Given the description of an element on the screen output the (x, y) to click on. 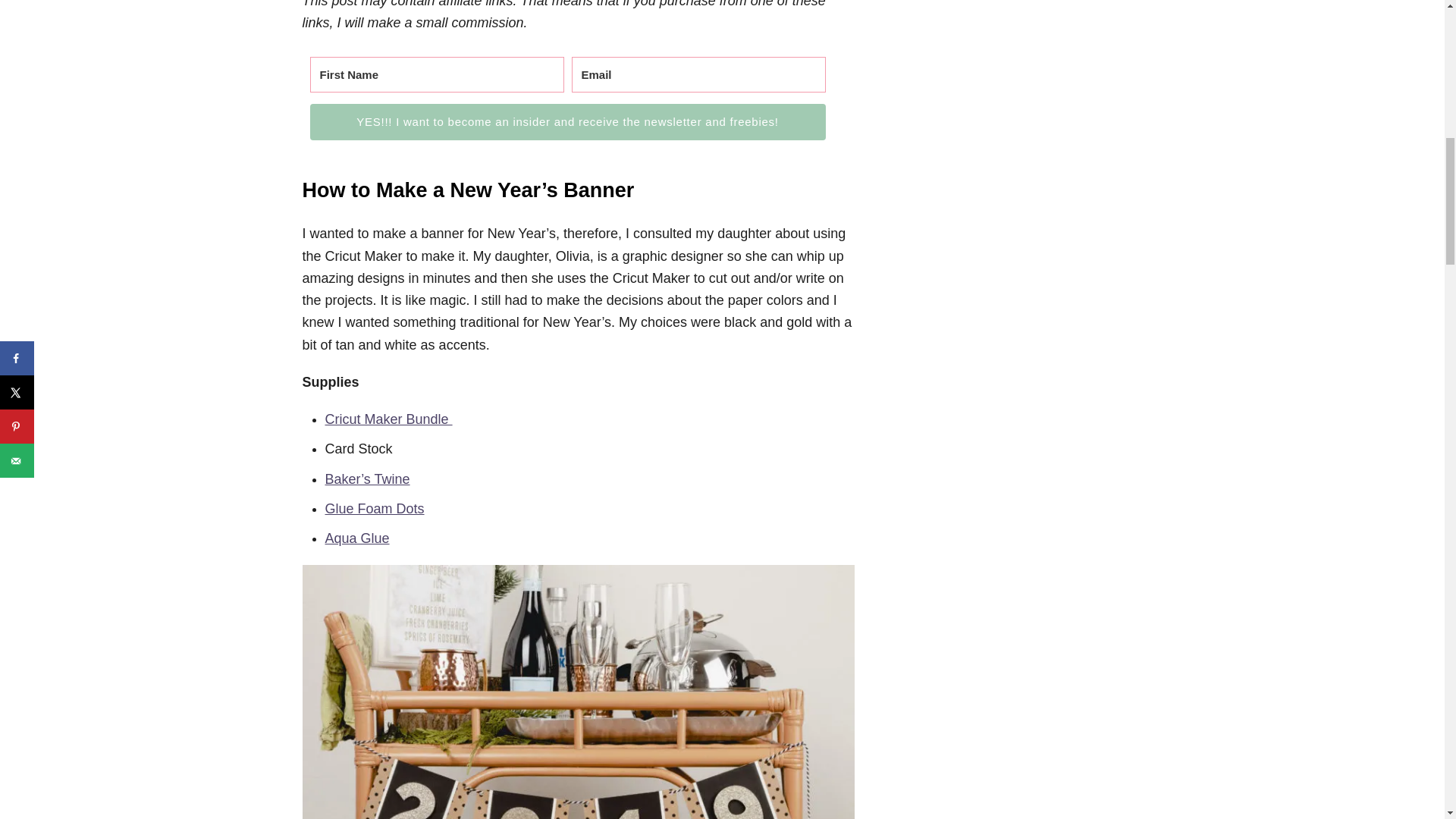
Cricut Maker Bundle  (387, 418)
Glue Foam Dots (373, 508)
Aqua Glue (356, 538)
